Given the description of an element on the screen output the (x, y) to click on. 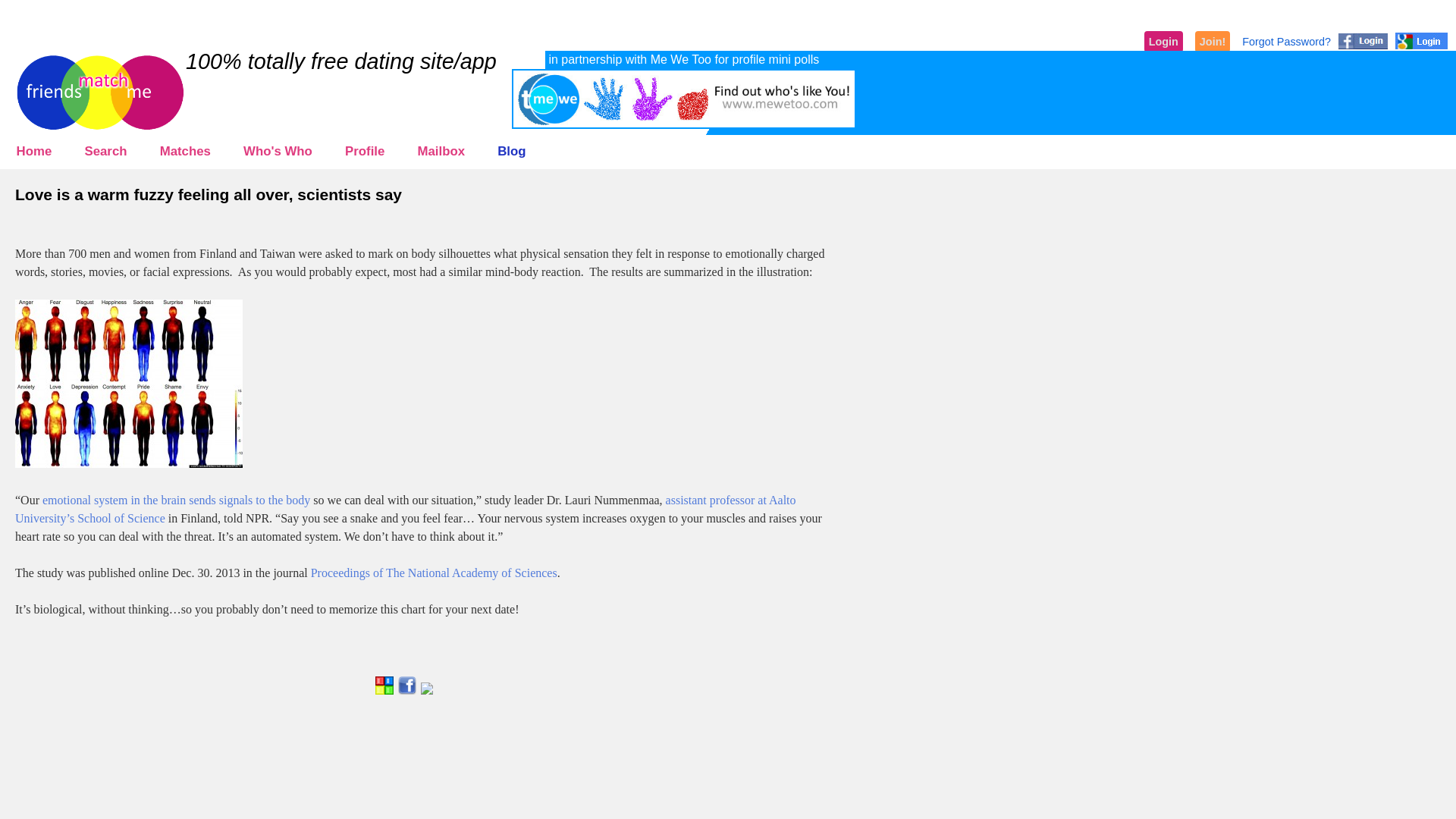
Facebook (406, 685)
Blog (512, 152)
emotional system in the brain sends signals to the body (176, 499)
Join! (1212, 41)
Profile (364, 152)
Login (1163, 41)
Facebook (406, 690)
Article Global (384, 685)
Forgot Password? (1285, 41)
Proceedings of The National Academy of Sciences (434, 572)
